Given the description of an element on the screen output the (x, y) to click on. 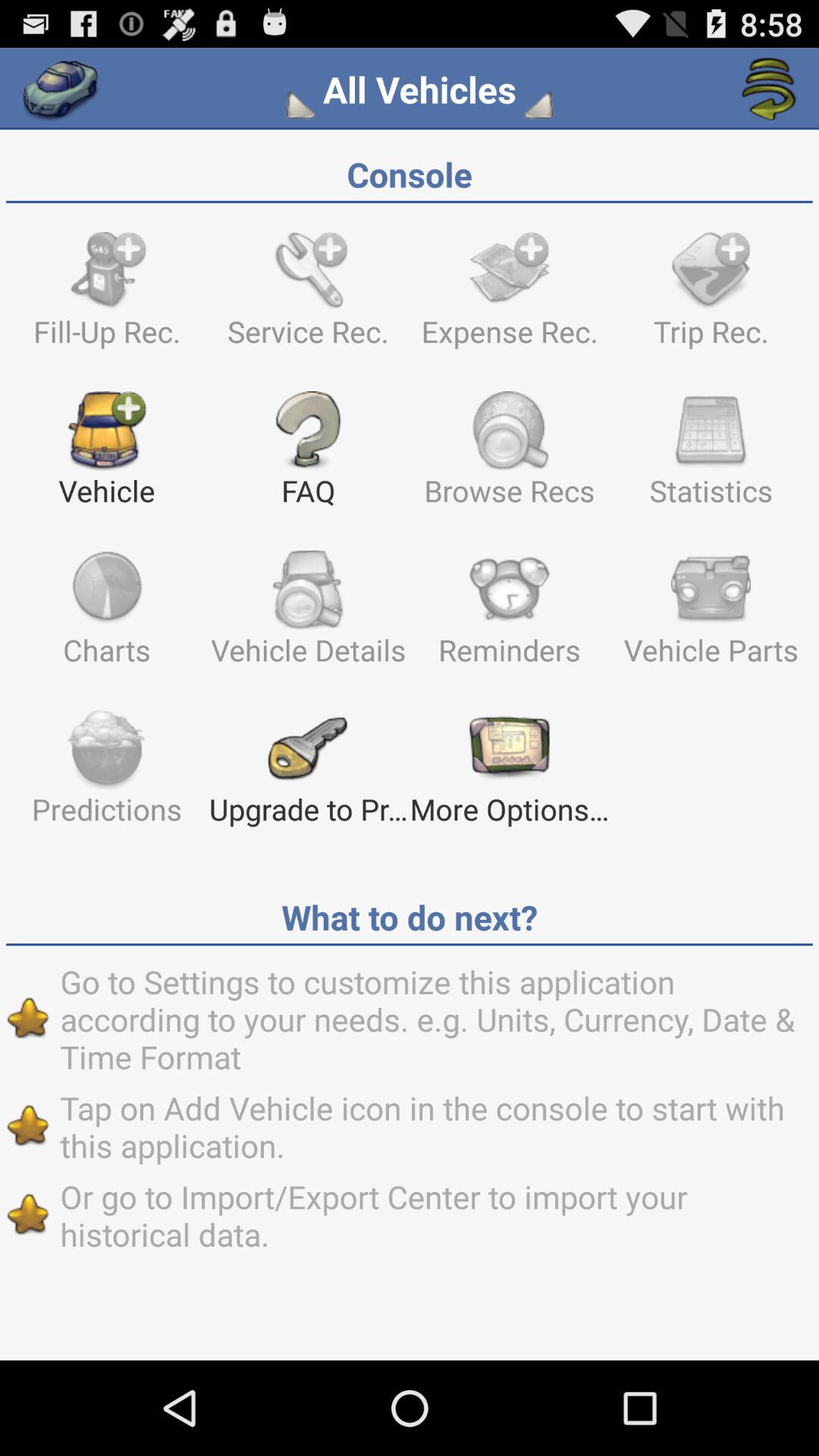
choose specific vehicle (303, 105)
